Given the description of an element on the screen output the (x, y) to click on. 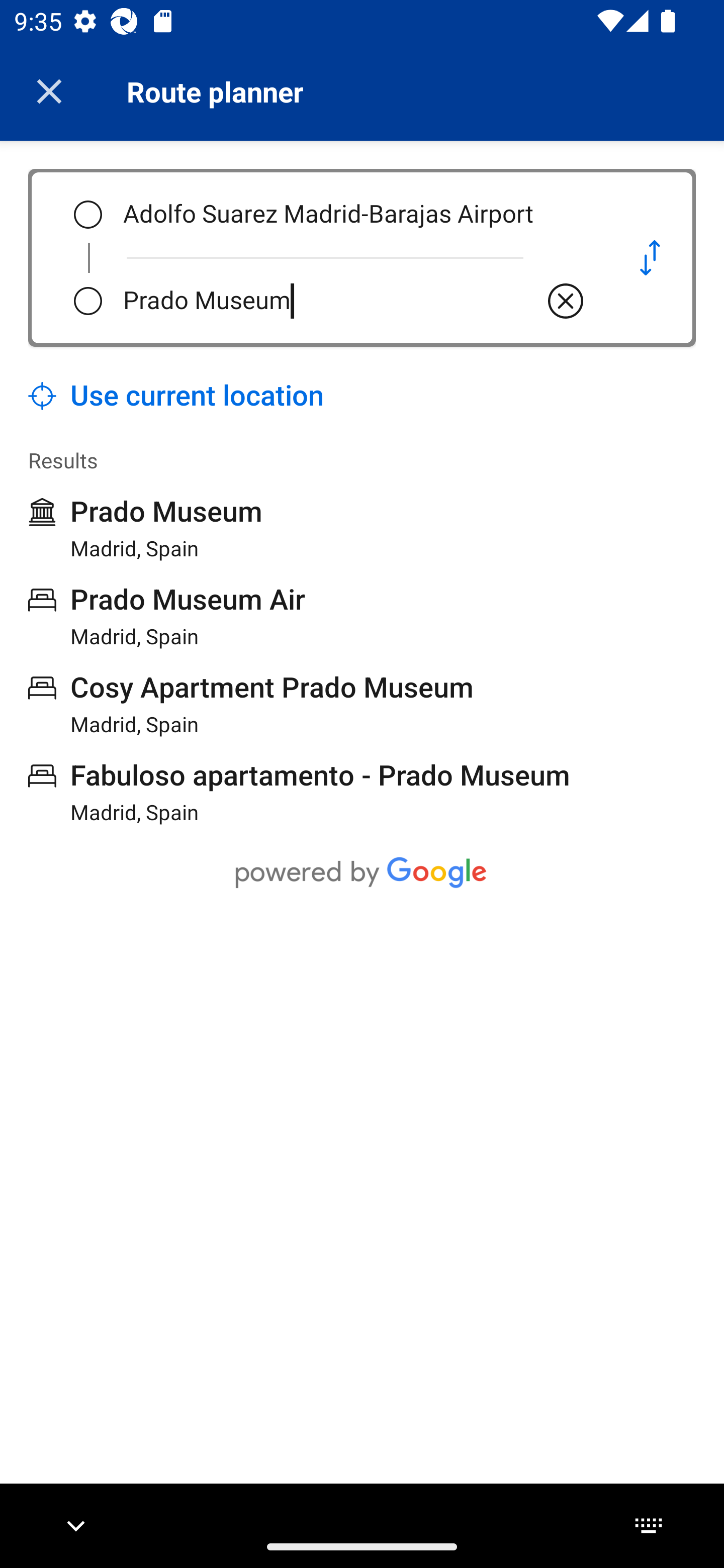
Close (49, 91)
Adolfo Suarez Madrid-Barajas Airport (355, 214)
Swap pick-up location and destination (650, 257)
Prado Museum Clear (355, 300)
Clear (565, 300)
Use current location (176, 395)
Prado Museum Madrid, Spain (145, 528)
Prado Museum Air Madrid, Spain (166, 615)
Cosy Apartment Prado Museum Madrid, Spain (250, 703)
Fabuloso apartamento - Prado Museum Madrid, Spain (299, 791)
